Given the description of an element on the screen output the (x, y) to click on. 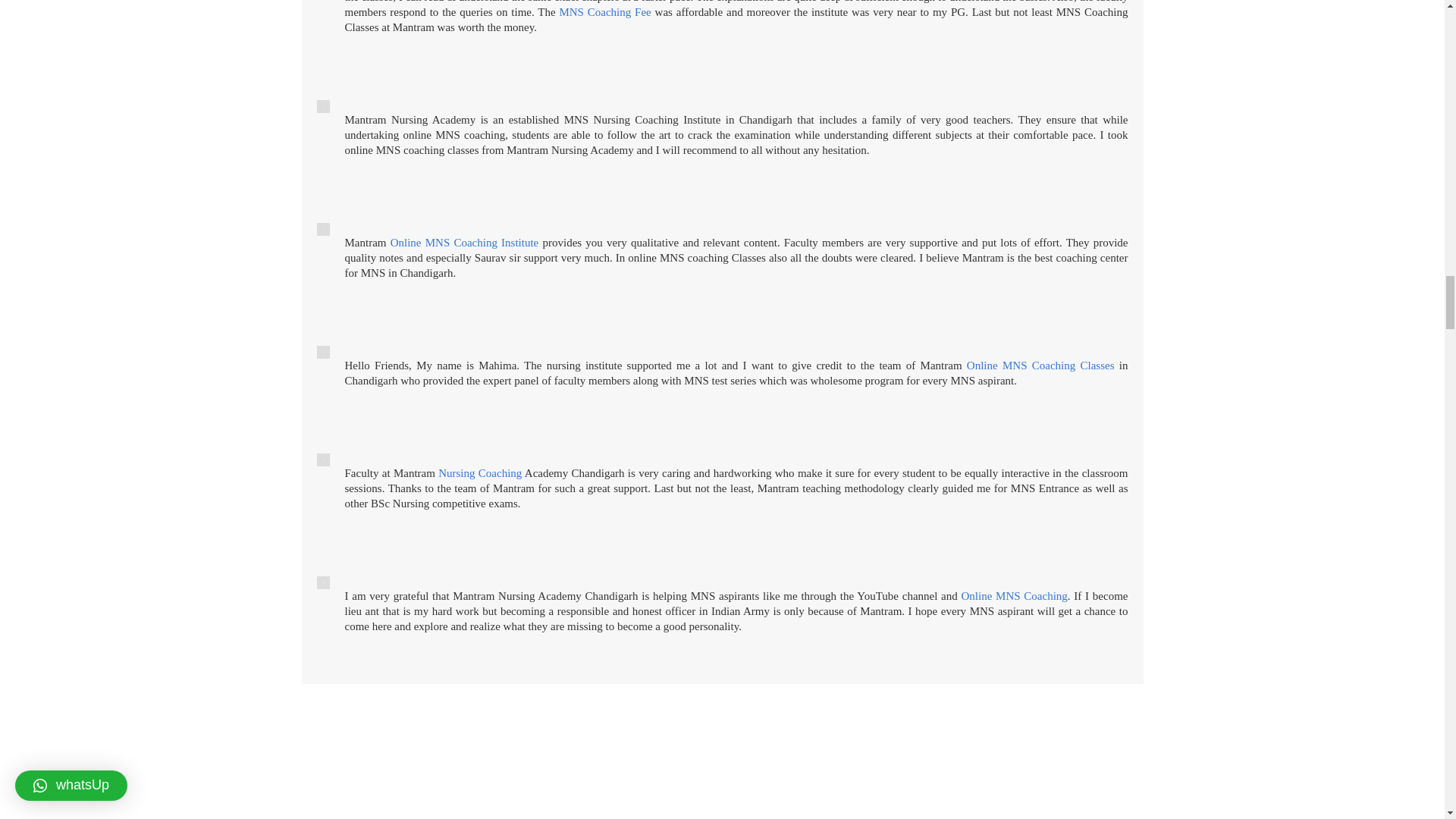
Online MNS Coaching Institute (464, 242)
MNS Coaching Fee (604, 11)
Online MNS Coaching (1013, 595)
Nursing Coaching (479, 472)
Online MNS Coaching Classes (1040, 365)
